Given the description of an element on the screen output the (x, y) to click on. 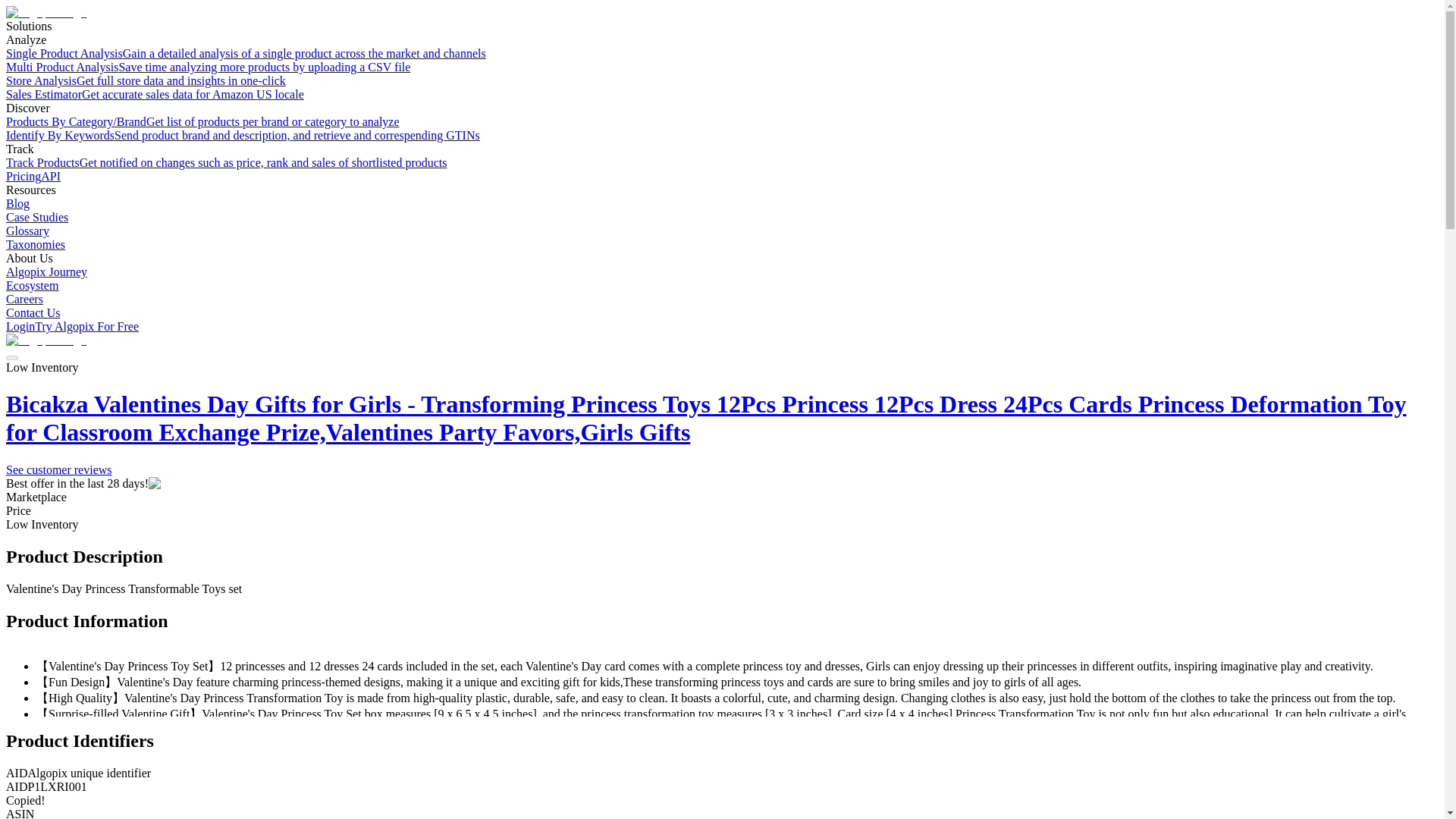
Case Studies (36, 216)
Login (19, 326)
Sales EstimatorGet accurate sales data for Amazon US locale (154, 93)
Glossary (27, 230)
Contact Us (33, 312)
Taxonomies (35, 244)
